Given the description of an element on the screen output the (x, y) to click on. 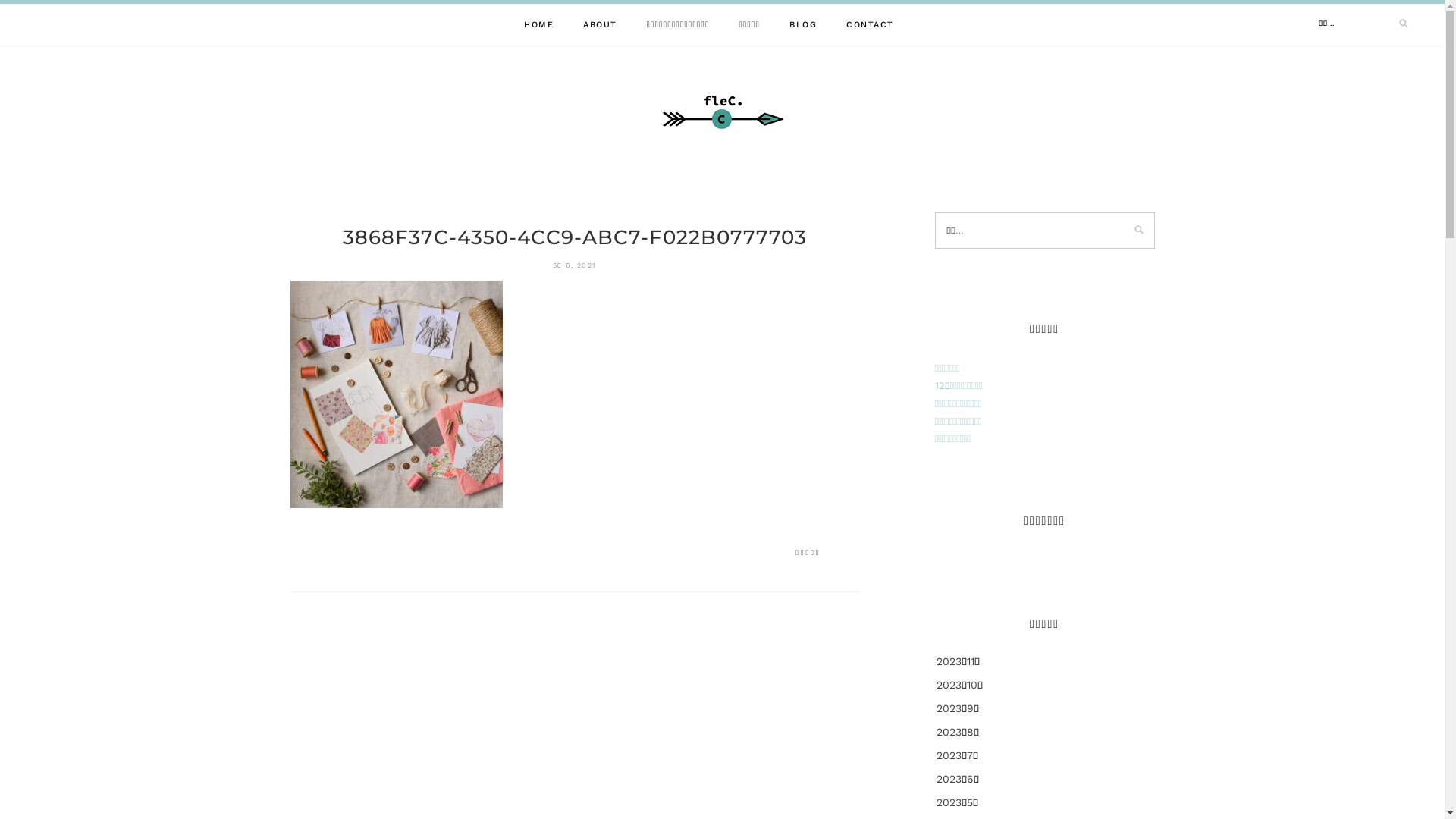
ABOUT Element type: text (600, 24)
CONTACT Element type: text (870, 24)
BLOG Element type: text (802, 24)
HOME Element type: text (538, 24)
